Given the description of an element on the screen output the (x, y) to click on. 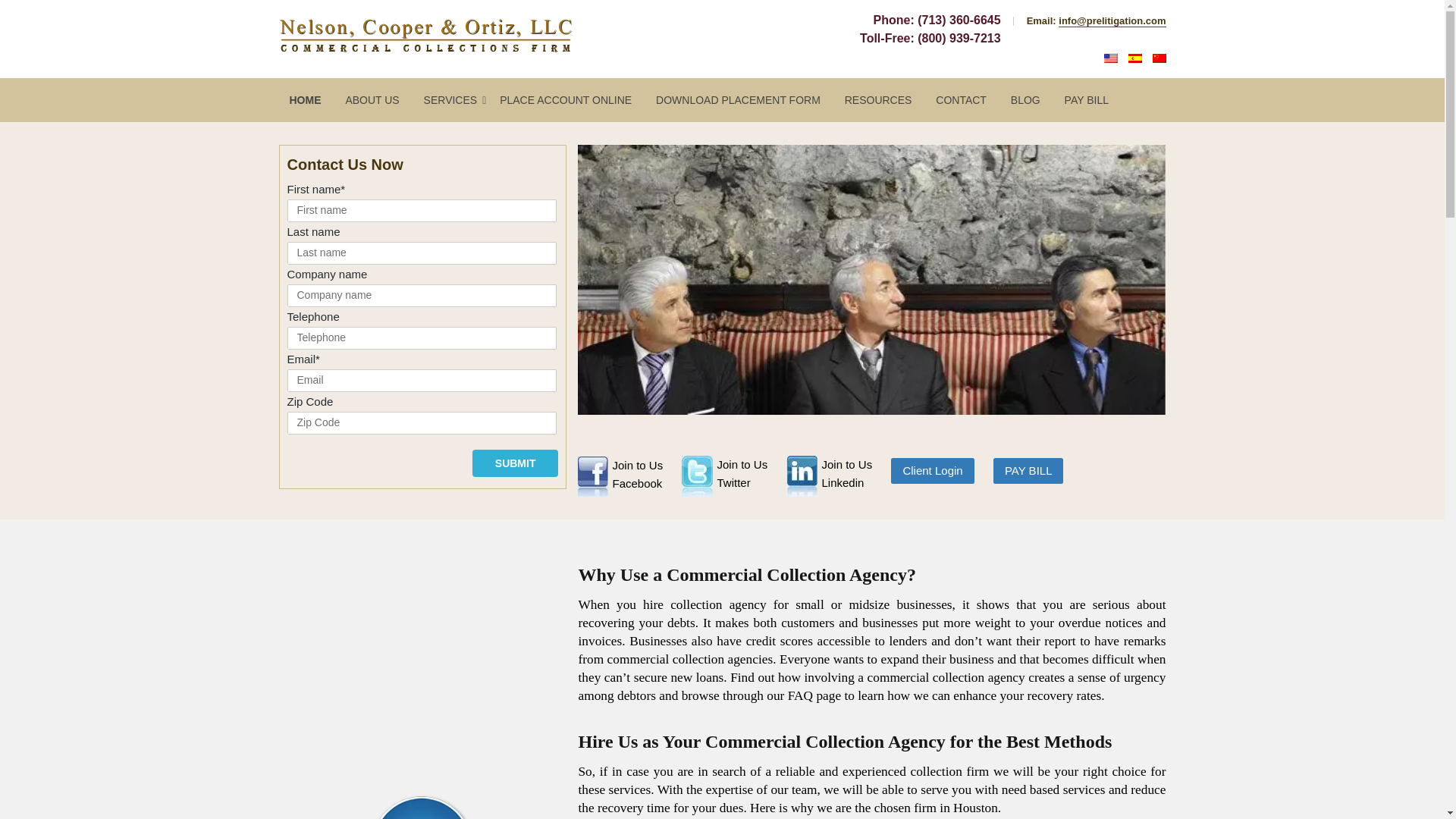
CONTACT (961, 99)
PAY BILL (1086, 99)
Client Login (932, 470)
Submit (515, 462)
PLACE ACCOUNT ONLINE (565, 99)
DOWNLOAD PLACEMENT FORM (738, 99)
SERVICES (654, 482)
English (759, 481)
Submit (454, 99)
RESOURCES (1110, 58)
ABOUT US (515, 462)
PAY BILL (864, 481)
